Given the description of an element on the screen output the (x, y) to click on. 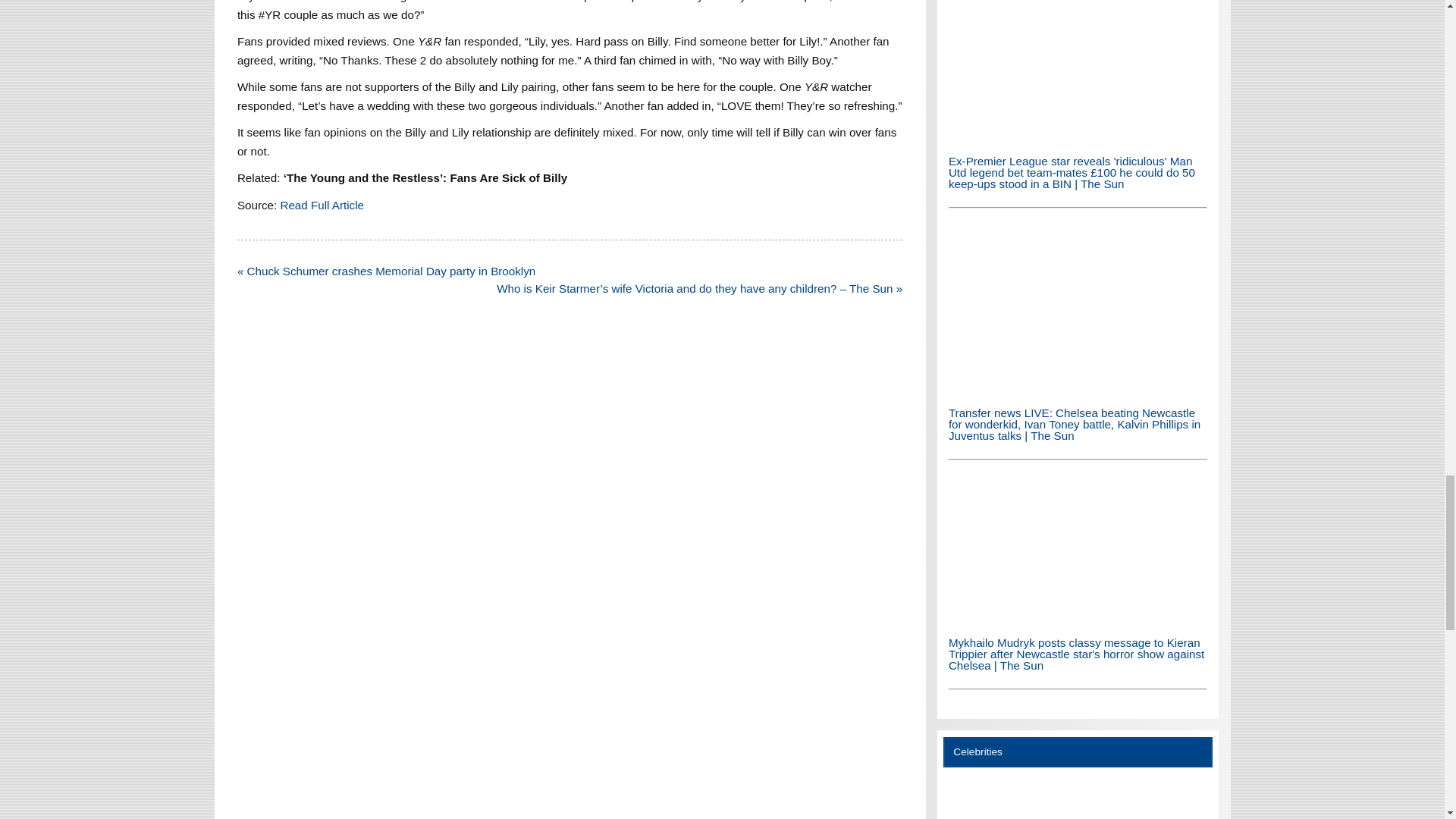
Read Full Article (321, 205)
